Given the description of an element on the screen output the (x, y) to click on. 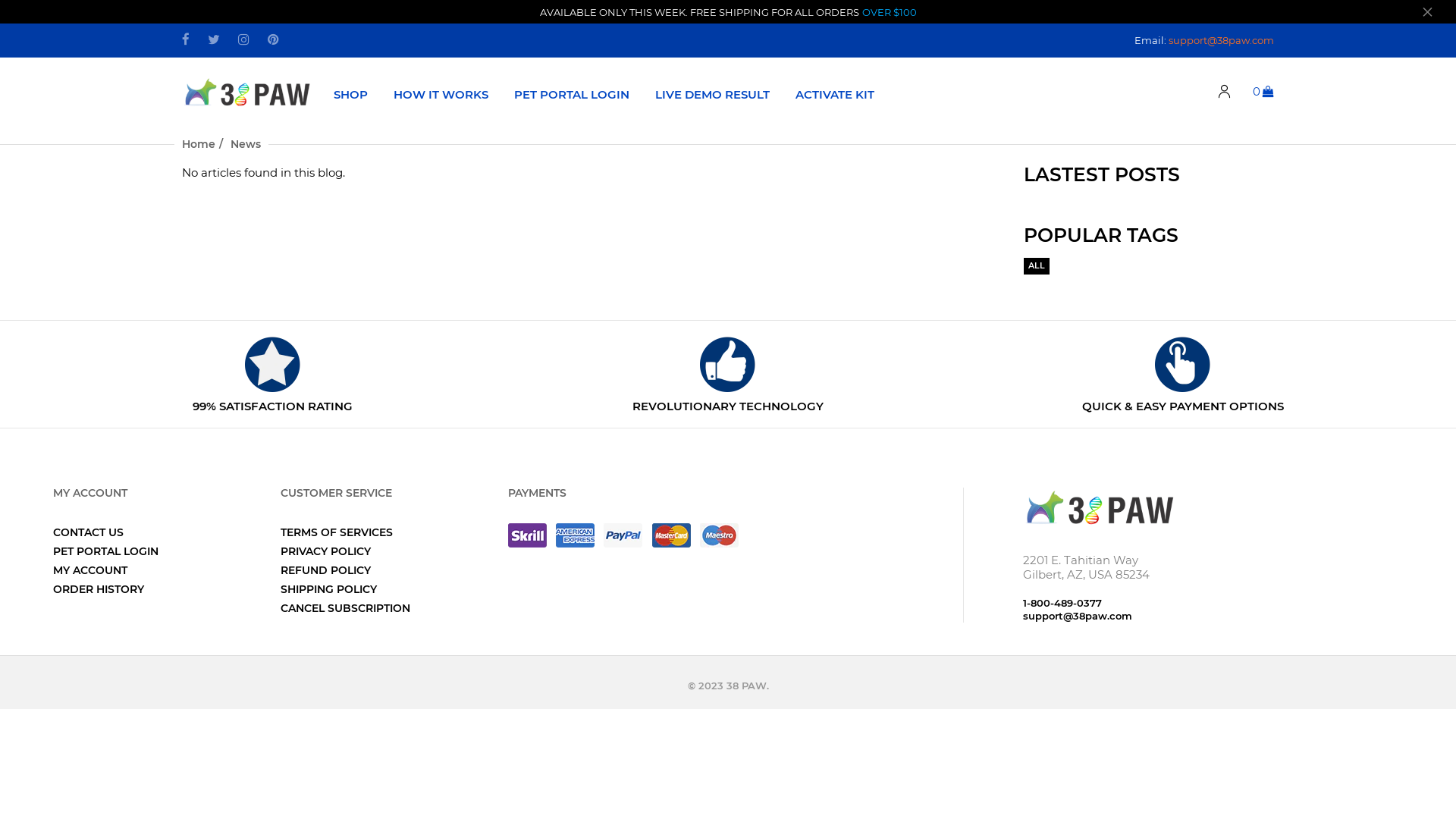
support@38paw.com Element type: text (1221, 39)
PET PORTAL LOGIN Element type: text (105, 551)
38 Paw Element type: hover (246, 90)
SHIPPING POLICY Element type: text (328, 589)
Facebook Element type: hover (185, 40)
ALL Element type: text (1036, 265)
HOW IT WORKS Element type: text (440, 93)
TERMS OF SERVICES Element type: text (336, 532)
PET PORTAL LOGIN Element type: text (571, 93)
Home Element type: text (198, 143)
Sign in Element type: hover (1224, 92)
CANCEL SUBSCRIPTION Element type: text (345, 608)
ACTIVATE KIT Element type: text (834, 93)
Pinterest Element type: hover (273, 40)
MY ACCOUNT Element type: text (90, 570)
LIVE DEMO RESULT Element type: text (712, 93)
Twitter Element type: hover (213, 40)
Instagram Element type: hover (243, 40)
38 Paw Element type: hover (1098, 505)
PRIVACY POLICY Element type: text (325, 551)
SHOP Element type: text (350, 93)
ORDER HISTORY Element type: text (98, 589)
CONTACT US Element type: text (88, 532)
REFUND POLICY Element type: text (325, 570)
